Given the description of an element on the screen output the (x, y) to click on. 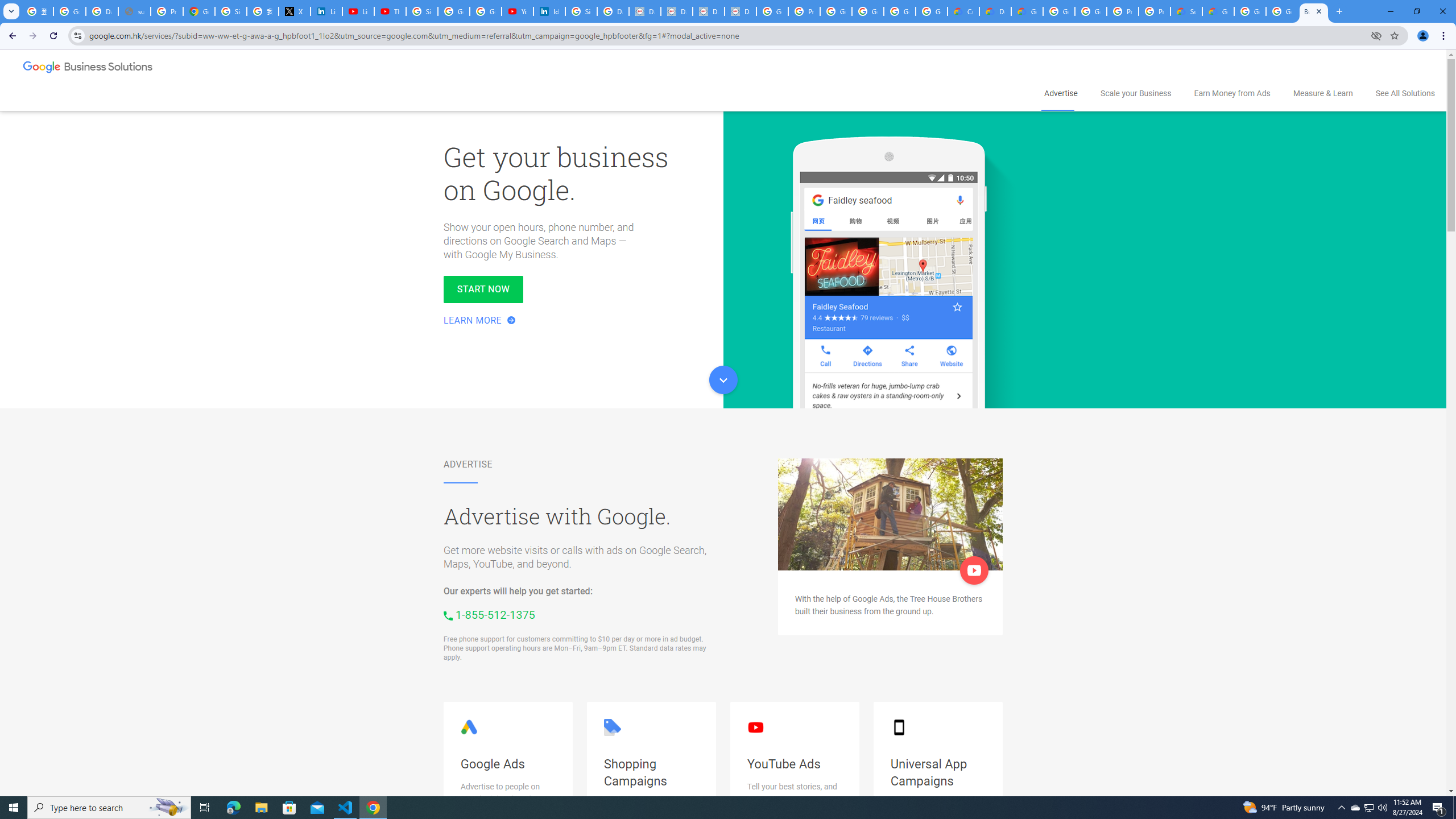
See All Solutions (1405, 93)
Google Cloud Service Health (1217, 11)
Google Workspace - Specific Terms (931, 11)
Privacy Help Center - Policies Help (166, 11)
Google Workspace - Specific Terms (899, 11)
Data Privacy Framework (708, 11)
Google Shopping logo (611, 727)
smartphone black (898, 727)
